Given the description of an element on the screen output the (x, y) to click on. 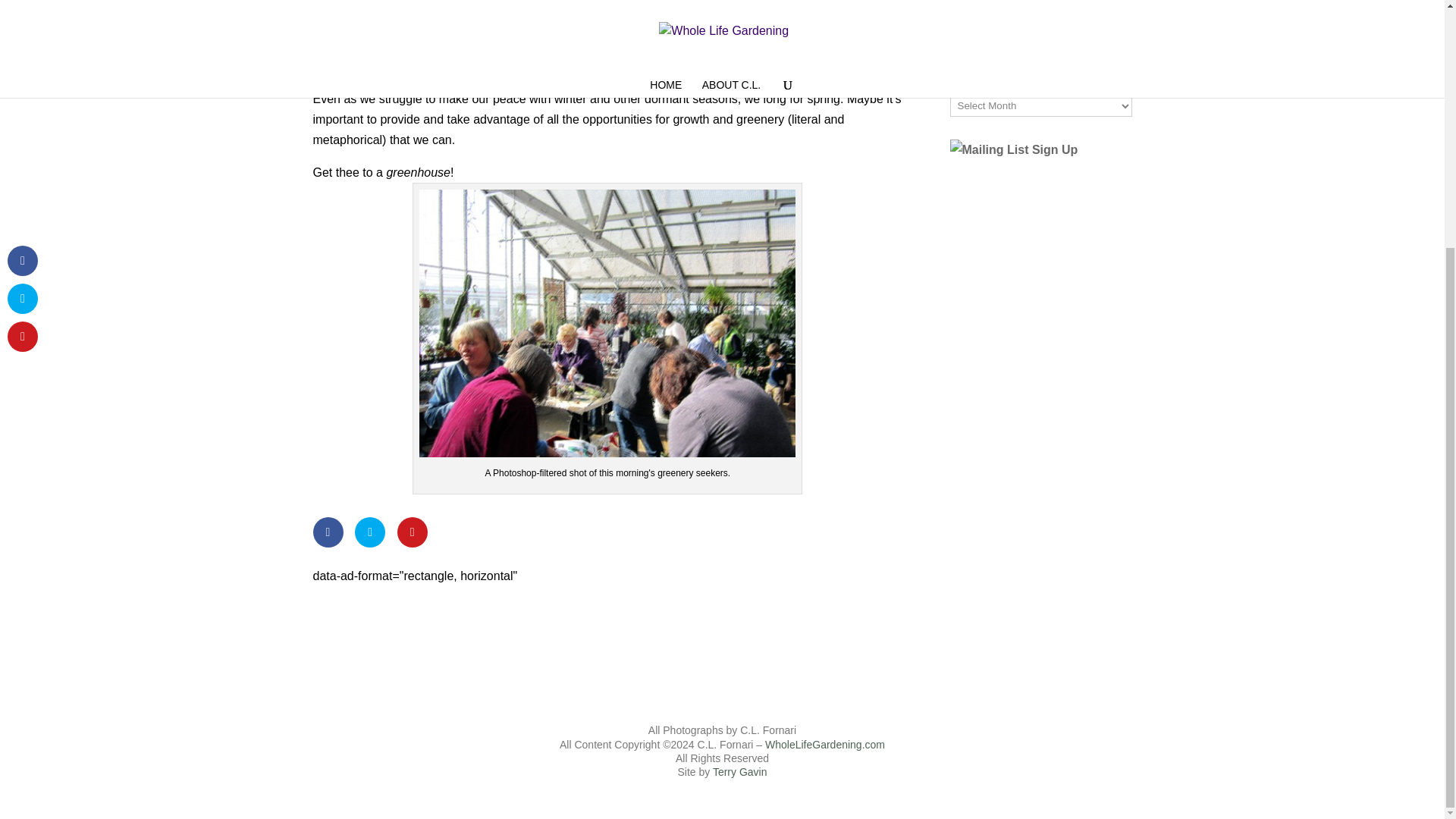
Mailing List Sign Up (1023, 195)
Terry Gavin (740, 771)
WholeLifeGardening.com (825, 744)
Terry Gavin (740, 771)
